Given the description of an element on the screen output the (x, y) to click on. 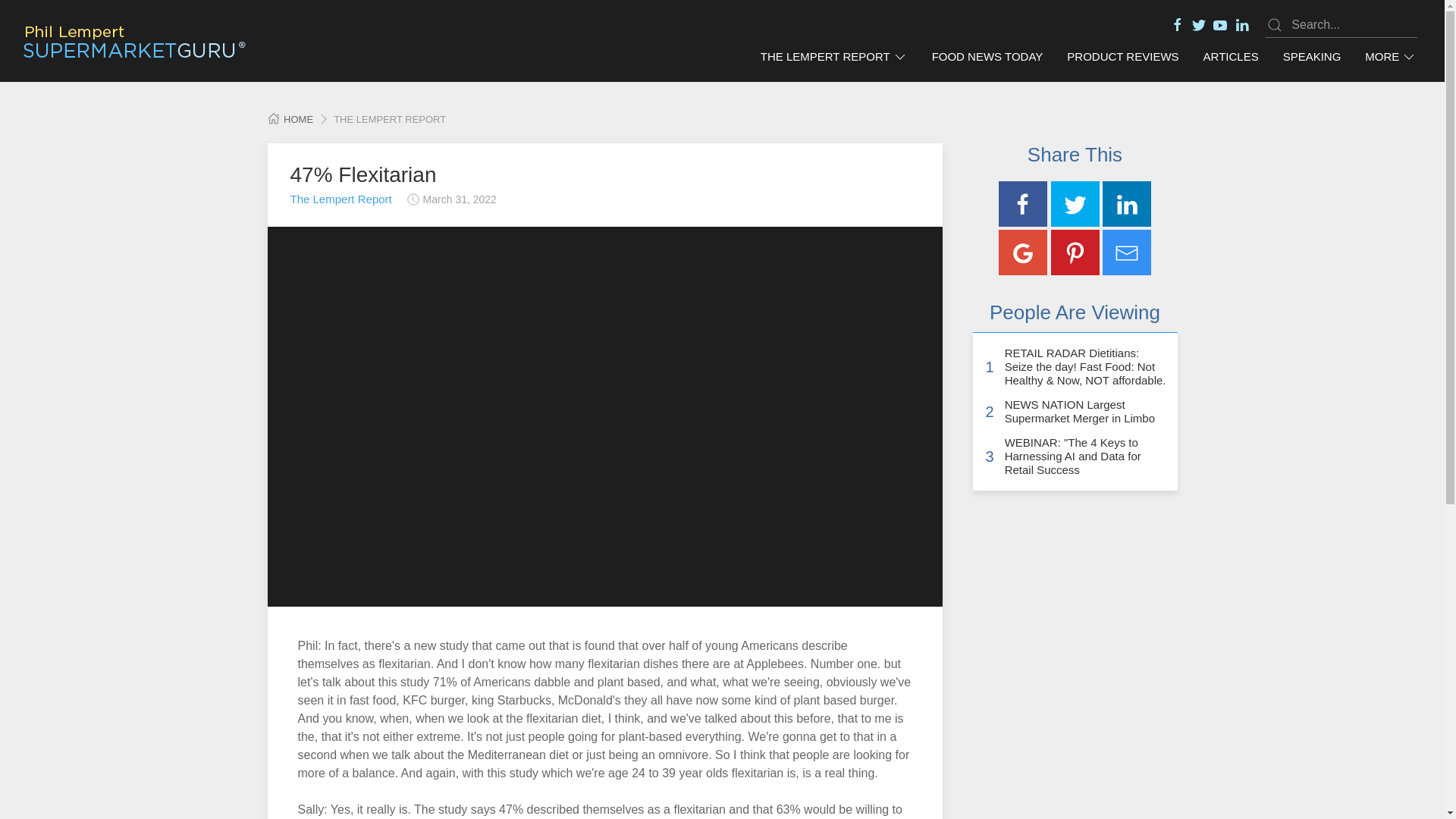
HOME (289, 119)
SPEAKING (1312, 56)
MORE (1390, 56)
PRODUCT REVIEWS (1122, 56)
ARTICLES (1231, 56)
THE LEMPERT REPORT (834, 56)
FOOD NEWS TODAY (987, 56)
